Given the description of an element on the screen output the (x, y) to click on. 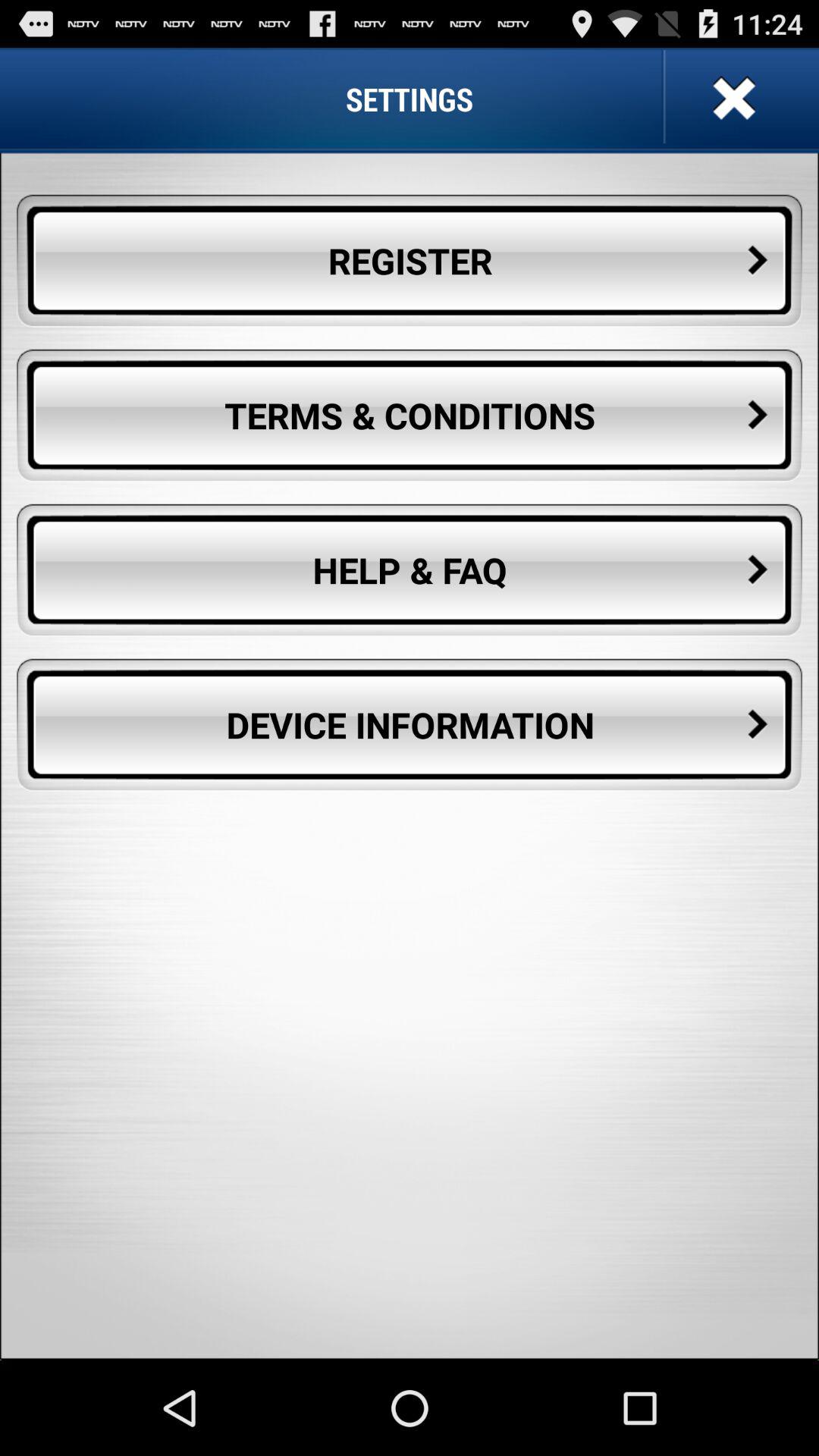
launch icon above the register button (732, 99)
